Given the description of an element on the screen output the (x, y) to click on. 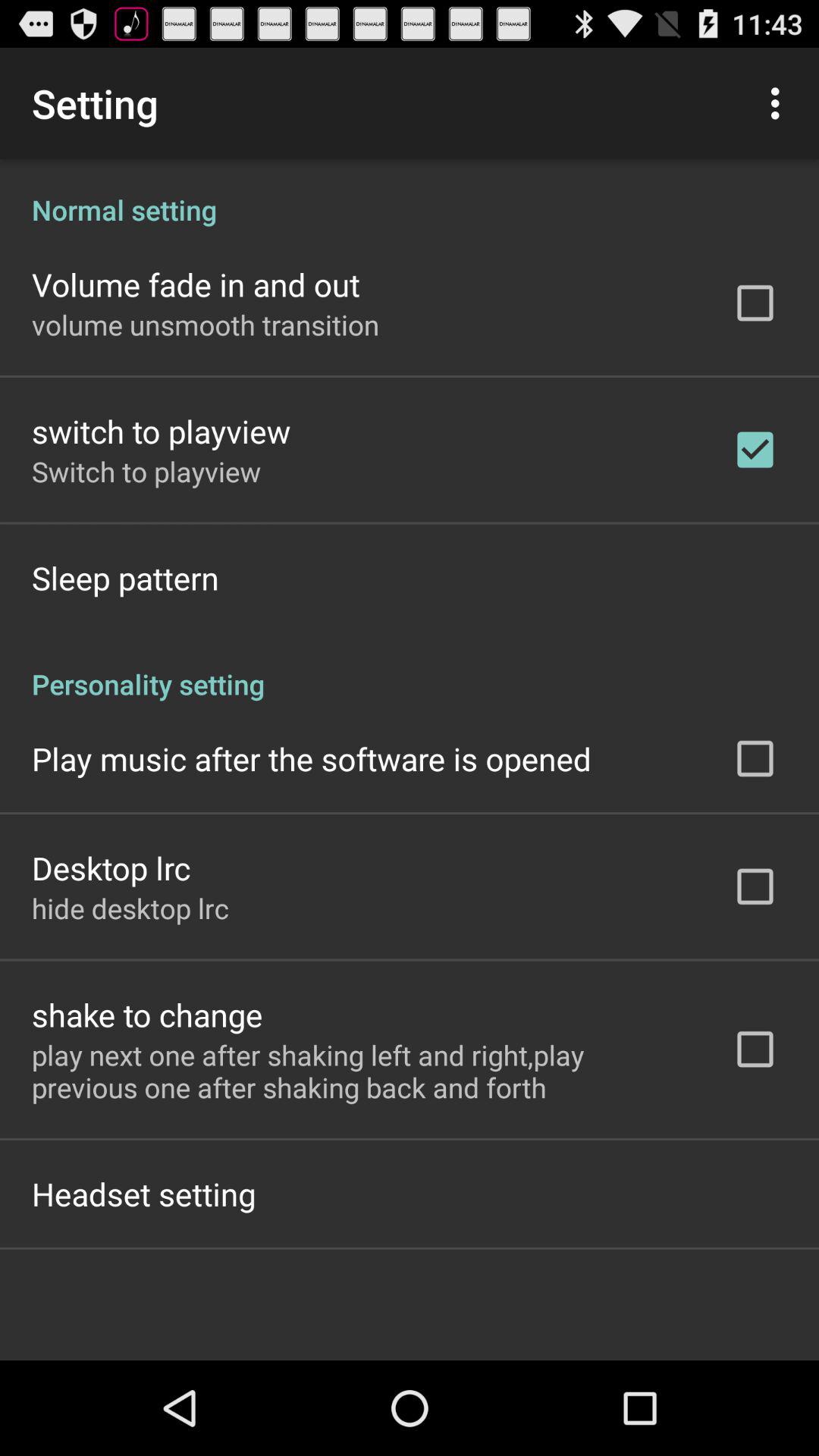
swipe to the sleep pattern app (124, 577)
